Given the description of an element on the screen output the (x, y) to click on. 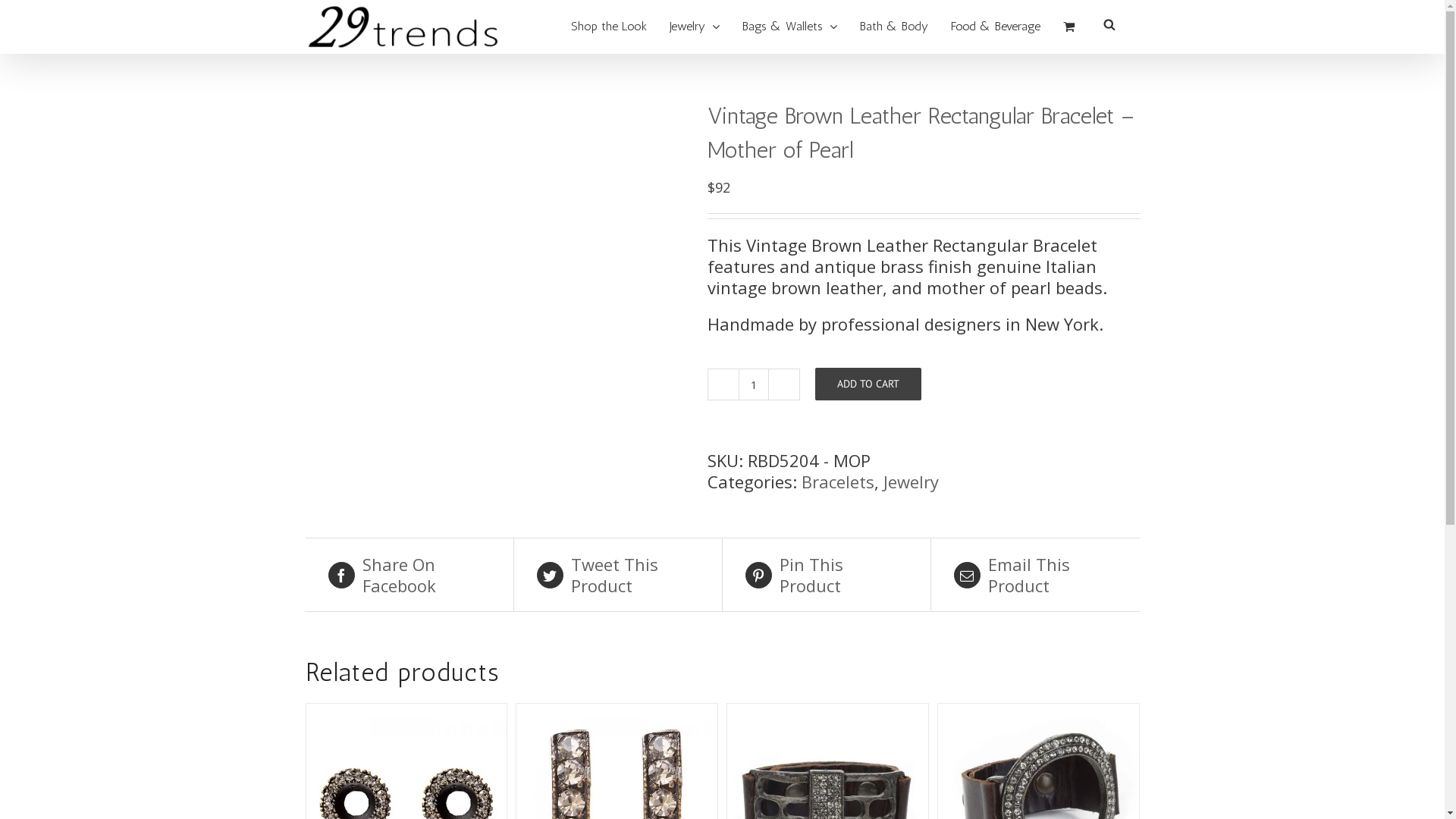
Bags & Wallets Element type: text (788, 26)
ADD TO CART Element type: text (867, 383)
Food & Beverage Element type: text (995, 26)
Bath & Body Element type: text (893, 26)
Shop the Look Element type: text (608, 26)
Tweet This Product Element type: text (617, 574)
Share On Facebook Element type: text (408, 574)
Bracelets Element type: text (836, 481)
Jewelry Element type: text (693, 26)
Email This Product Element type: text (1035, 574)
Pin This Product Element type: text (825, 574)
Jewelry Element type: text (910, 481)
